Given the description of an element on the screen output the (x, y) to click on. 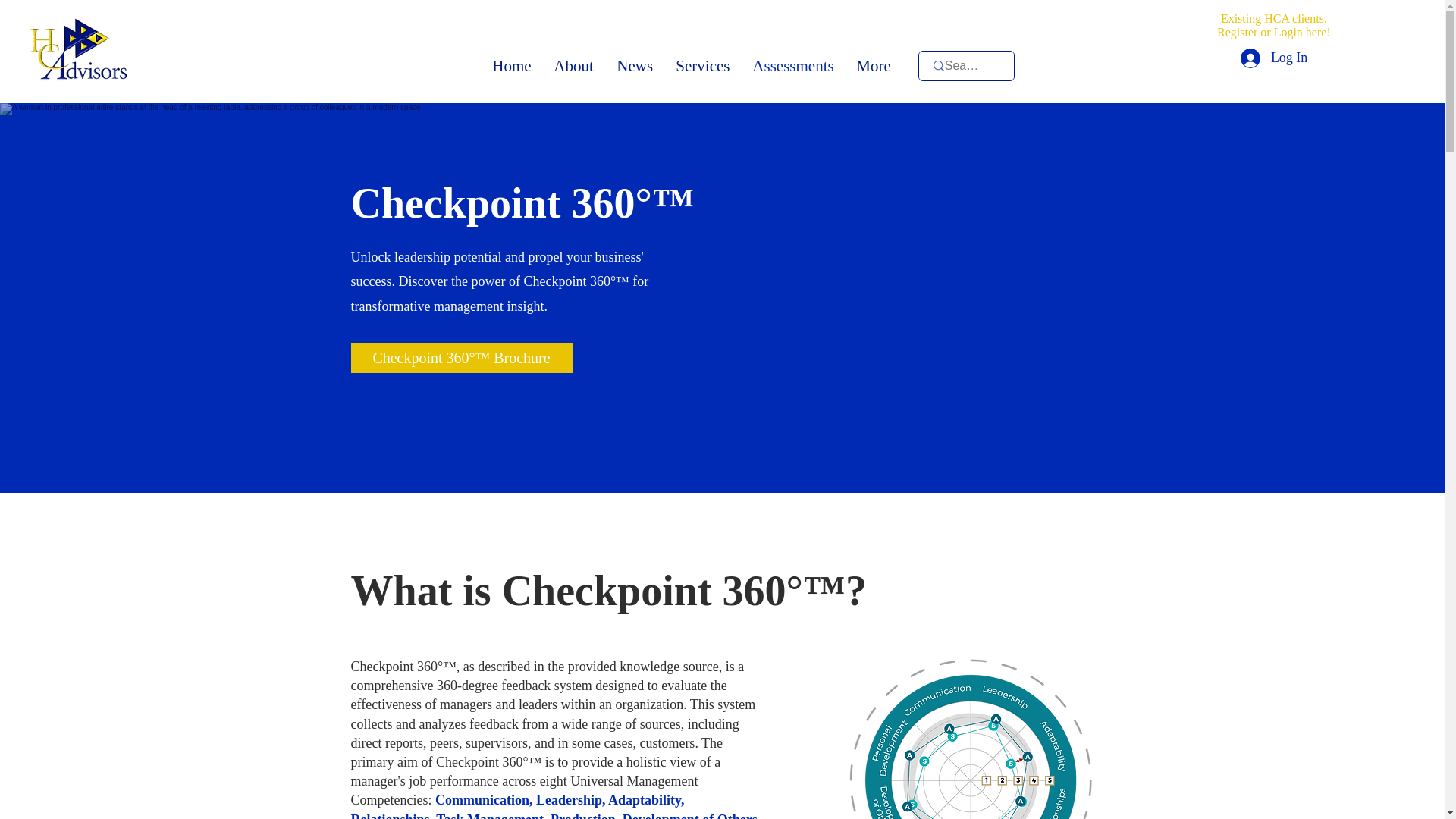
Log In (1274, 58)
Home (510, 66)
Assessments (792, 66)
About (573, 66)
News (634, 66)
Services (702, 66)
